Given the description of an element on the screen output the (x, y) to click on. 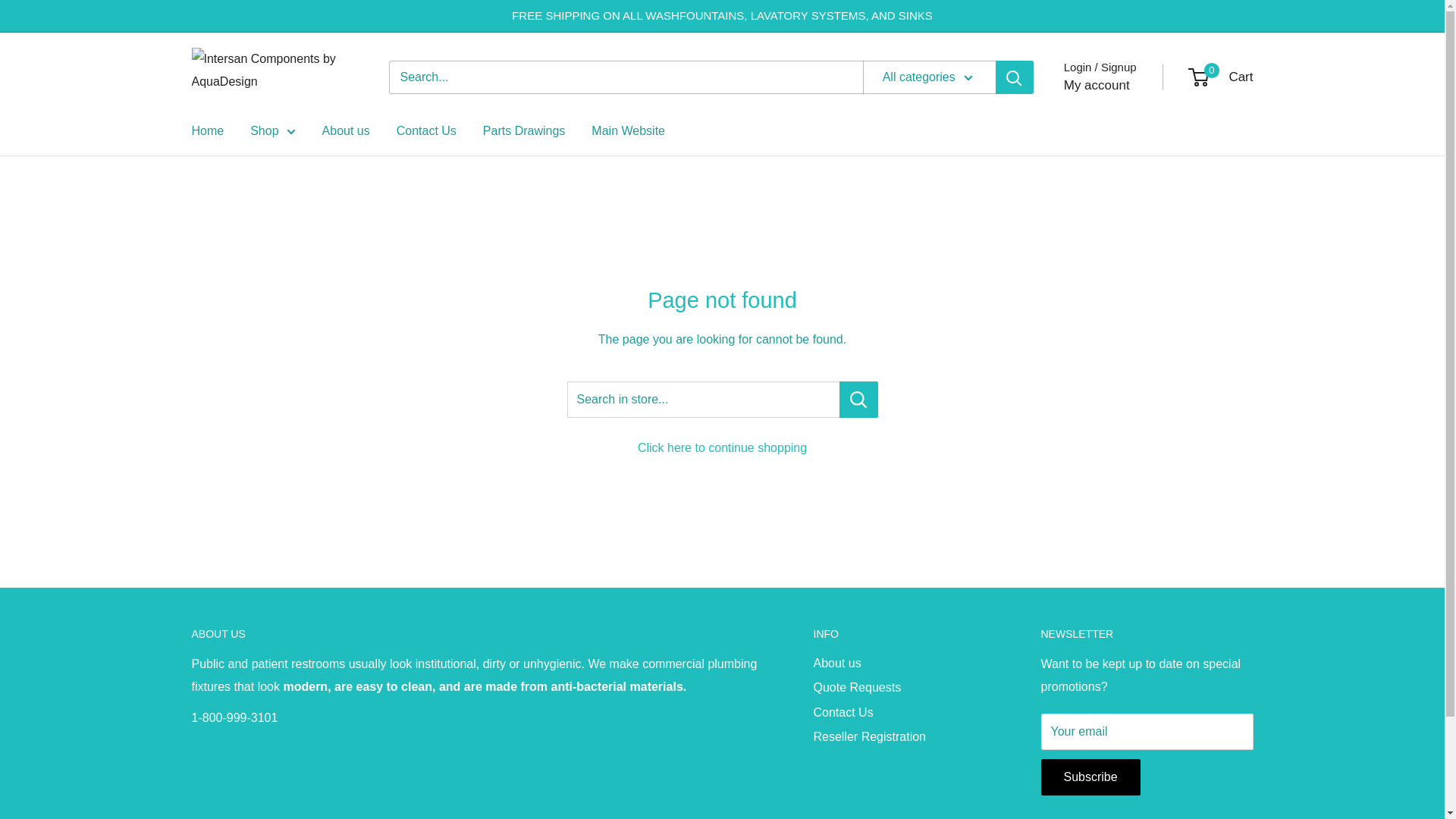
My account (1096, 85)
Intersan Components by AquaDesign (274, 77)
Shop (272, 130)
Home (207, 130)
